Given the description of an element on the screen output the (x, y) to click on. 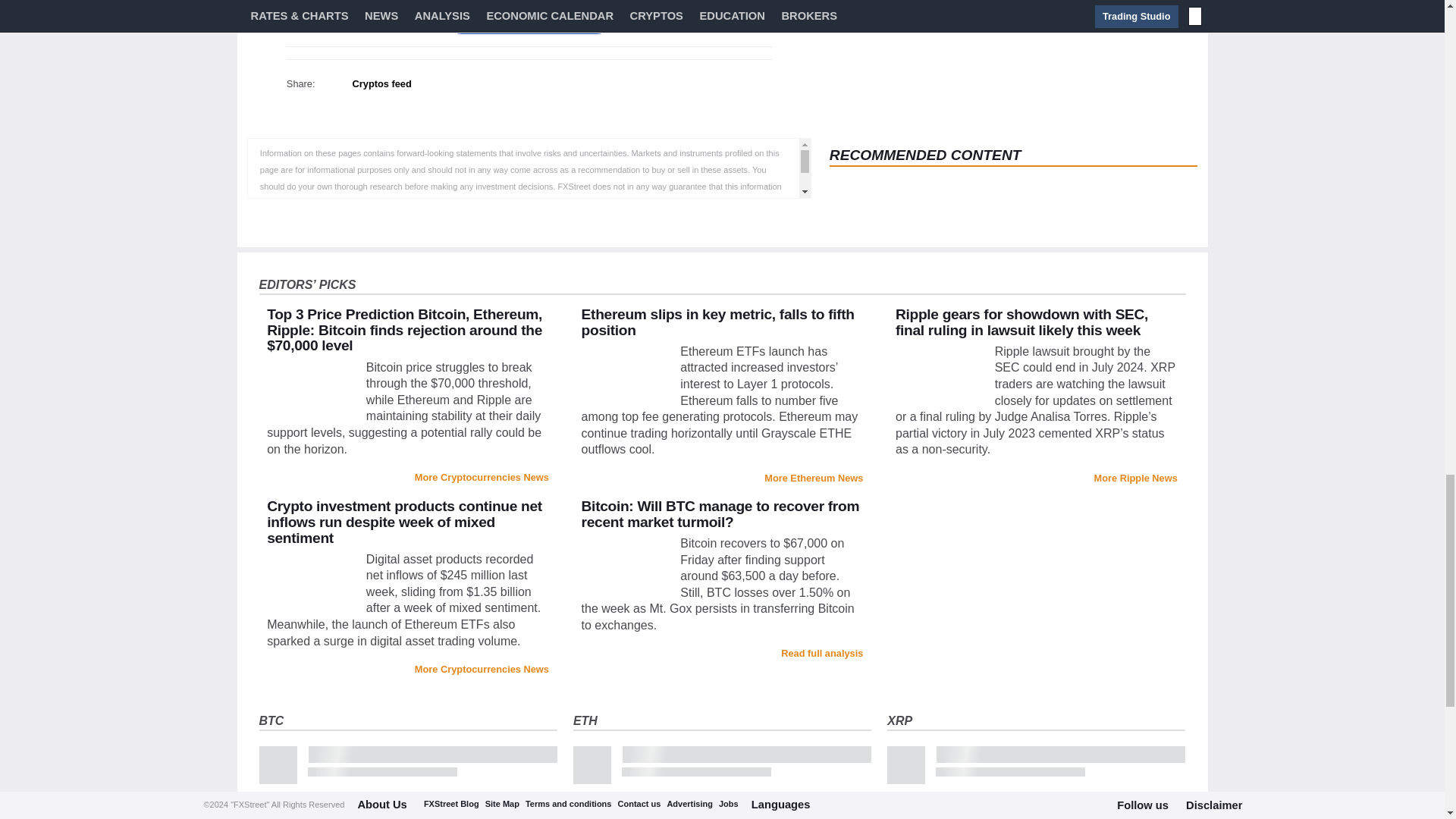
Ethereum slips in key metric, falls to fifth position (717, 322)
